Given the description of an element on the screen output the (x, y) to click on. 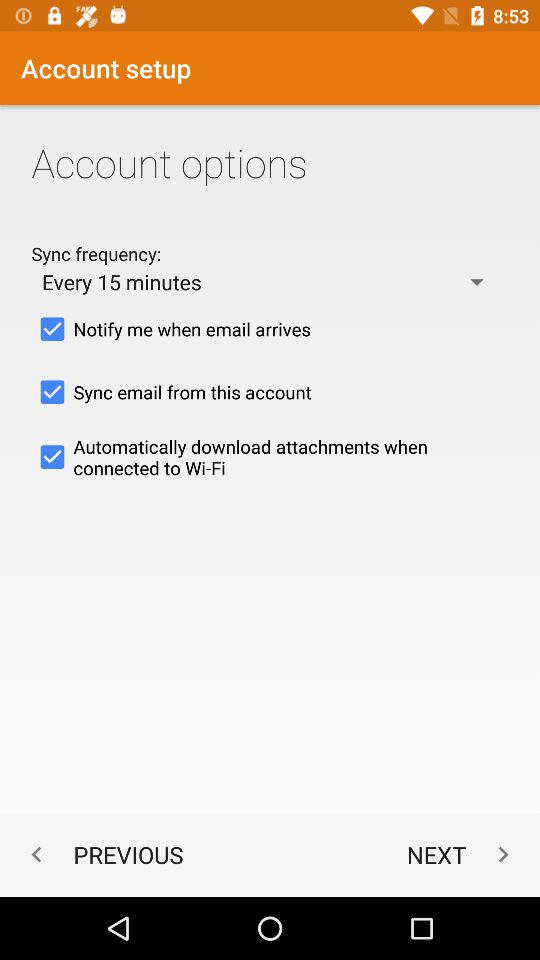
open the app next to the previous item (462, 854)
